Given the description of an element on the screen output the (x, y) to click on. 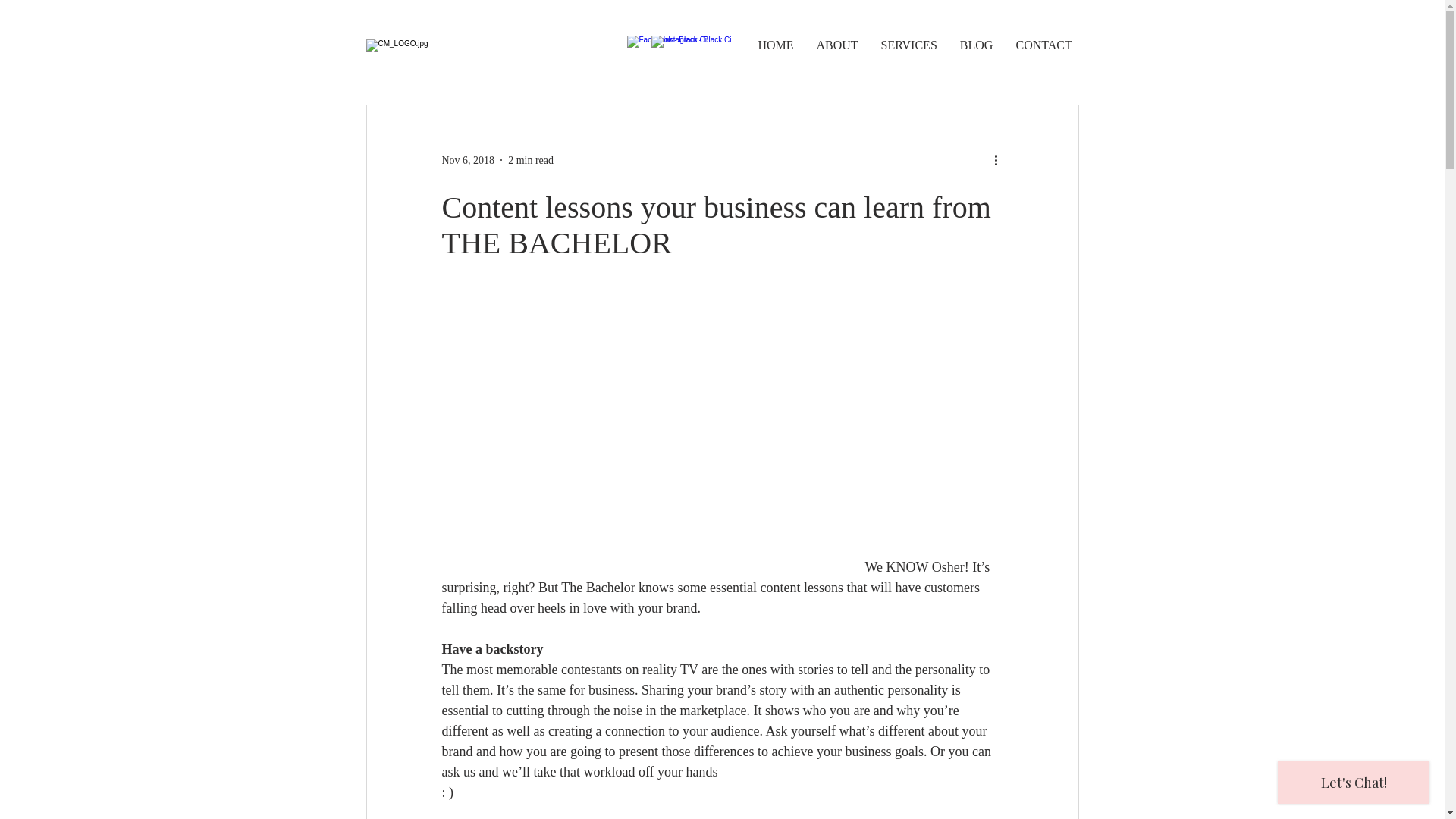
BLOG Element type: text (975, 45)
HOME Element type: text (775, 45)
ABOUT Element type: text (837, 45)
SERVICES Element type: text (908, 45)
CONTACT Element type: text (1043, 45)
remote content Element type: hover (637, 449)
